Given the description of an element on the screen output the (x, y) to click on. 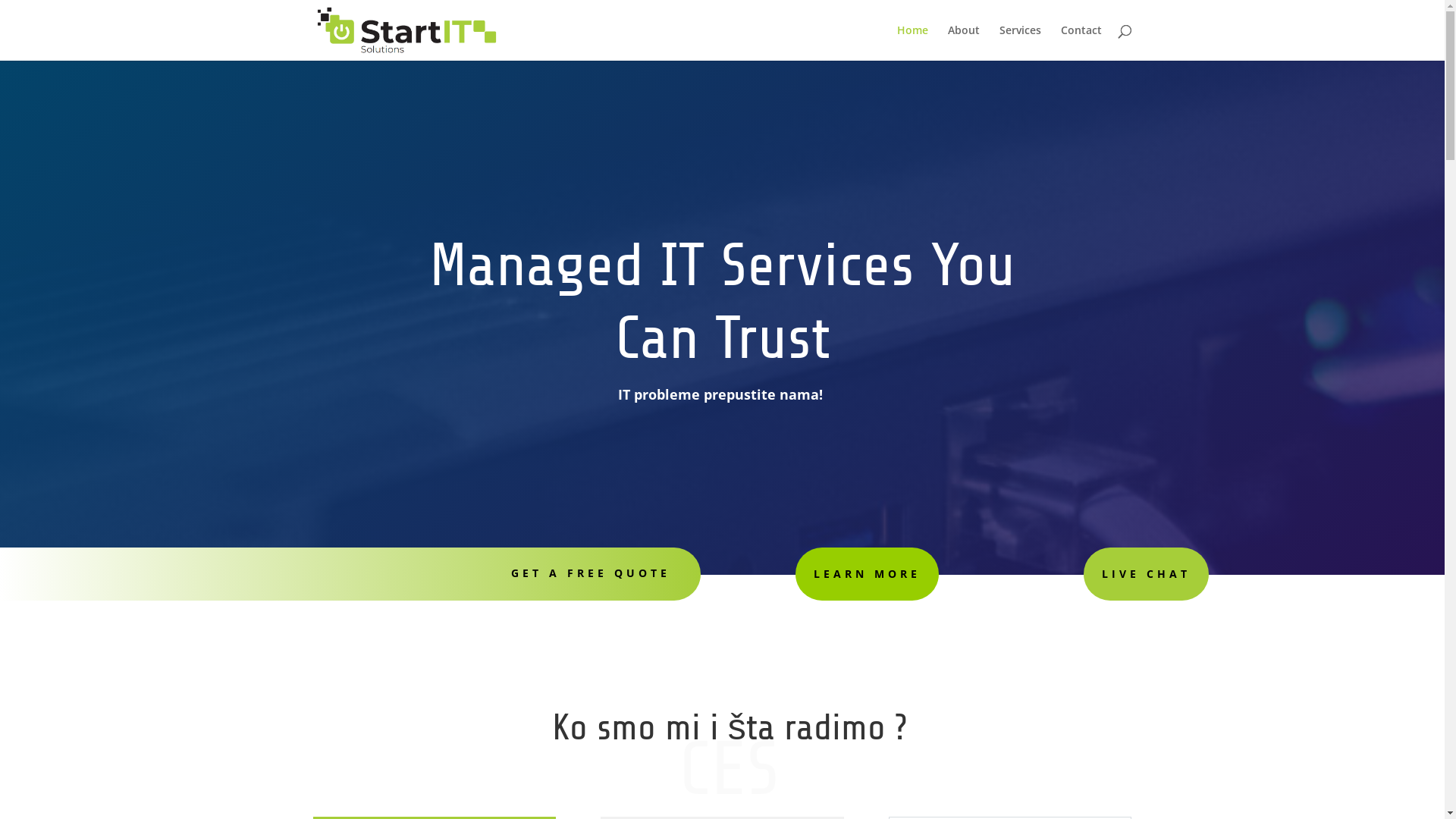
LIVE CHAT Element type: text (1145, 573)
Contact Element type: text (1080, 42)
Services Element type: text (1020, 42)
LEARN MORE Element type: text (866, 573)
About Element type: text (963, 42)
GET A FREE QUOTE Element type: text (590, 572)
Home Element type: text (911, 42)
